Given the description of an element on the screen output the (x, y) to click on. 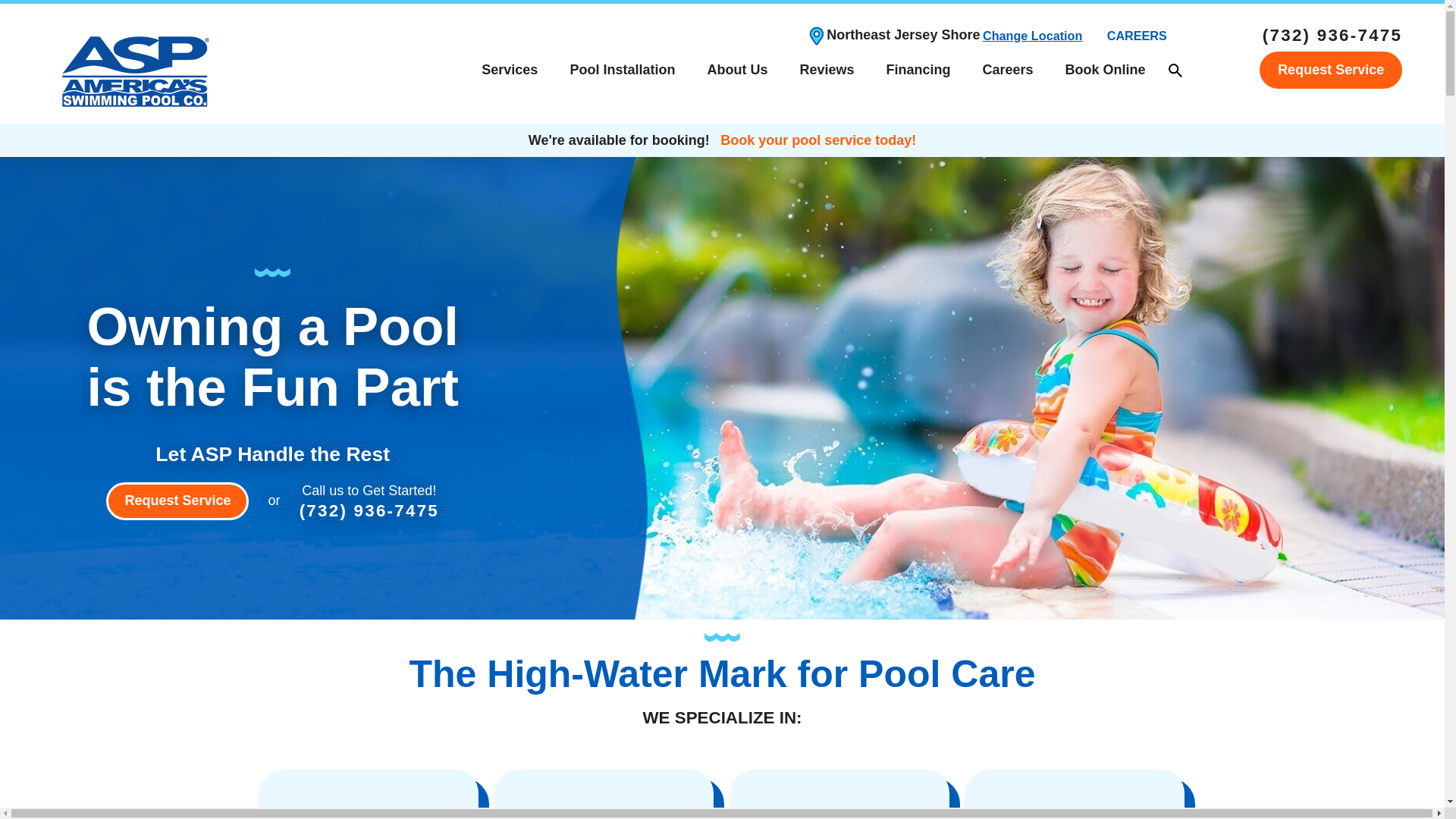
Services (509, 70)
 Icon (604, 811)
Search our site (1175, 69)
 Icon (1075, 811)
 Icon (840, 811)
CAREERS (1136, 35)
 Icon (369, 811)
Change Location (1031, 35)
